Given the description of an element on the screen output the (x, y) to click on. 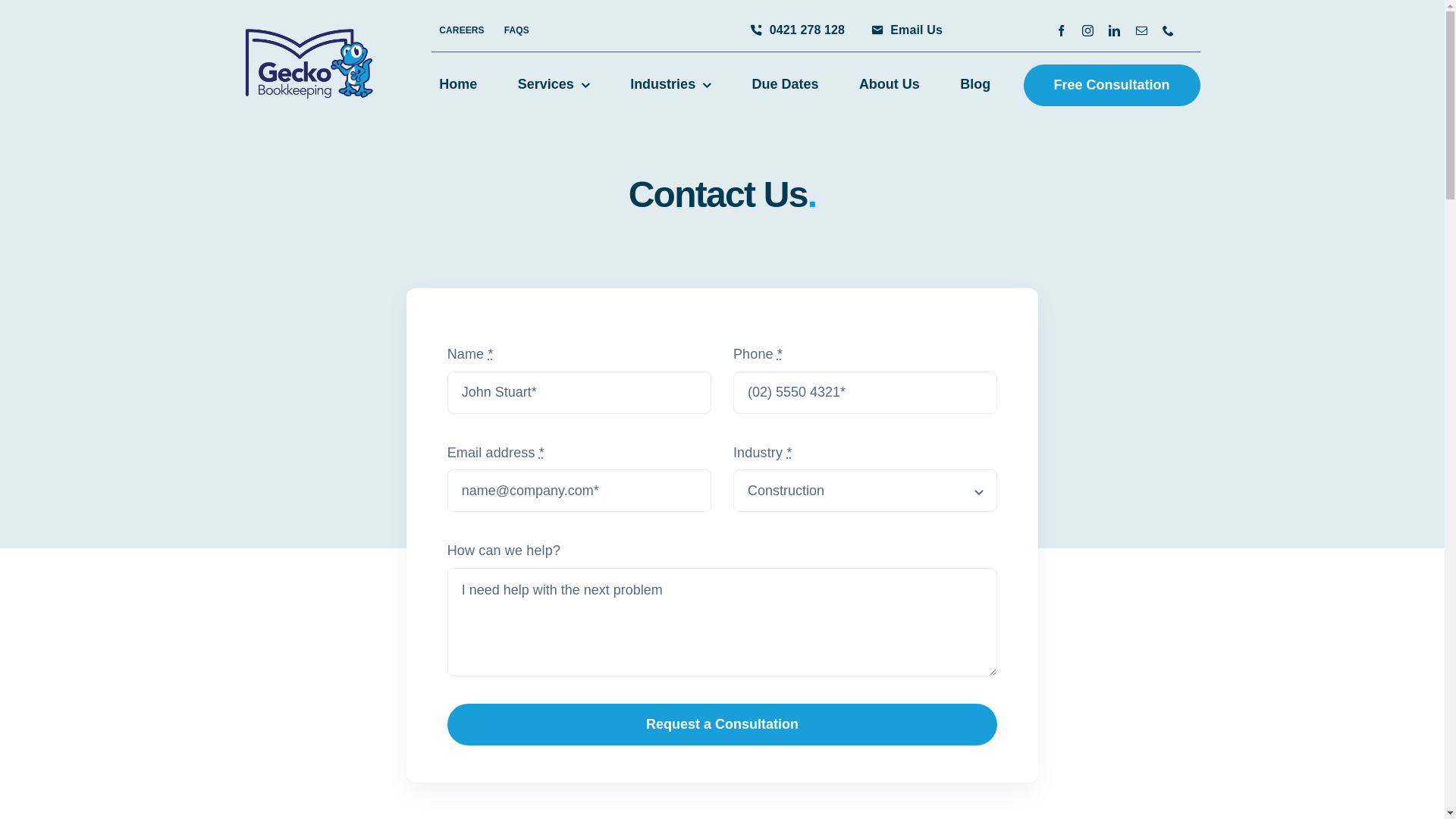
Blog Element type: text (974, 85)
Email Element type: hover (1141, 29)
LinkedIn Element type: hover (1114, 29)
Facebook Element type: hover (1060, 29)
Industries Element type: text (670, 85)
Home Element type: text (457, 85)
CAREERS Element type: text (461, 30)
Request a Consultation Element type: text (722, 724)
0421 278 128 Element type: text (794, 30)
Phone Element type: hover (1167, 29)
Due Dates Element type: text (785, 85)
Free Consultation Element type: text (1111, 85)
About Us Element type: text (889, 85)
Services Element type: text (553, 85)
Email Us Element type: text (903, 30)
FAQS Element type: text (516, 30)
Instagram Element type: hover (1087, 29)
